Given the description of an element on the screen output the (x, y) to click on. 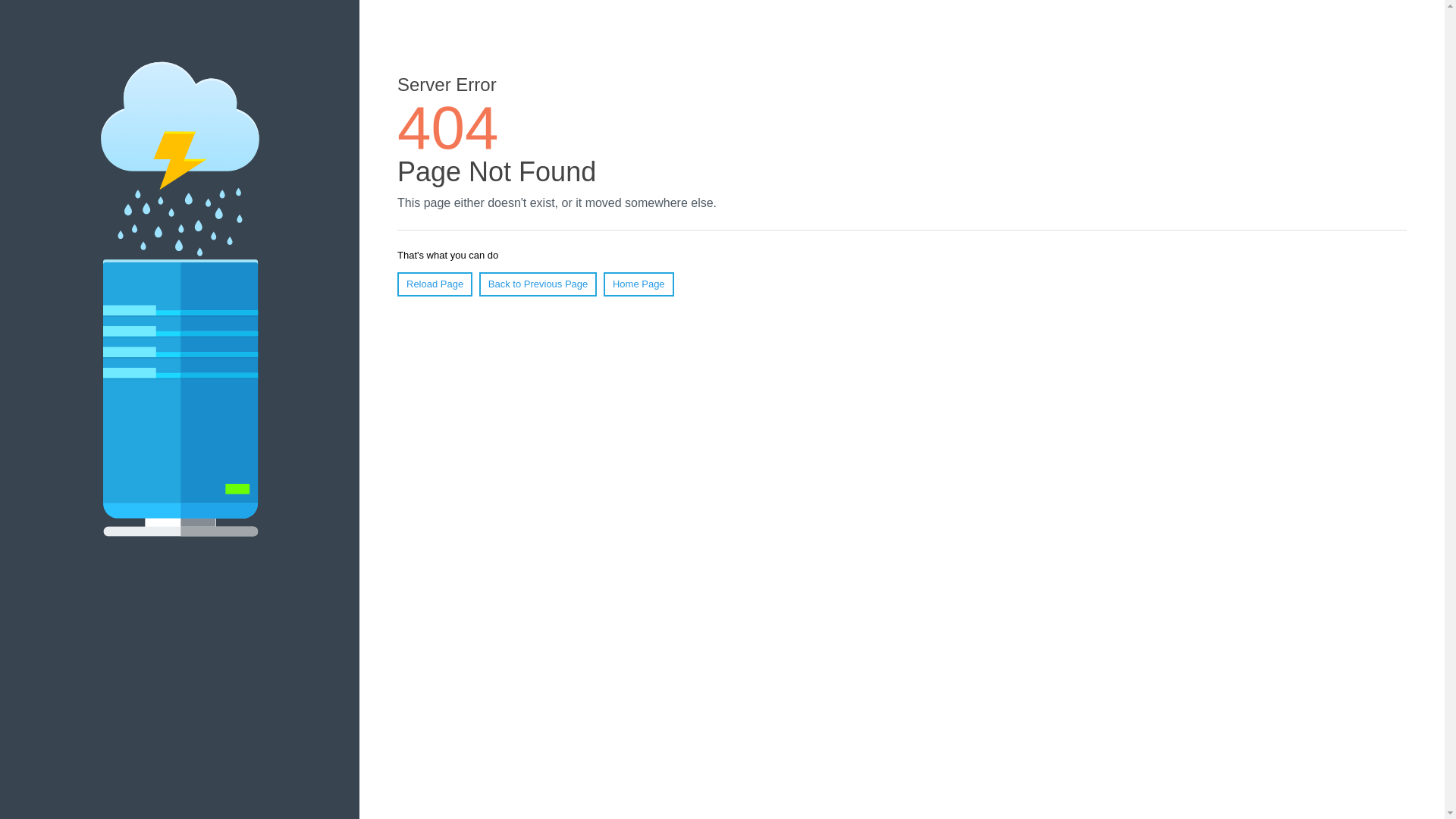
Back to Previous Page Element type: text (538, 284)
Home Page Element type: text (638, 284)
Reload Page Element type: text (434, 284)
